Given the description of an element on the screen output the (x, y) to click on. 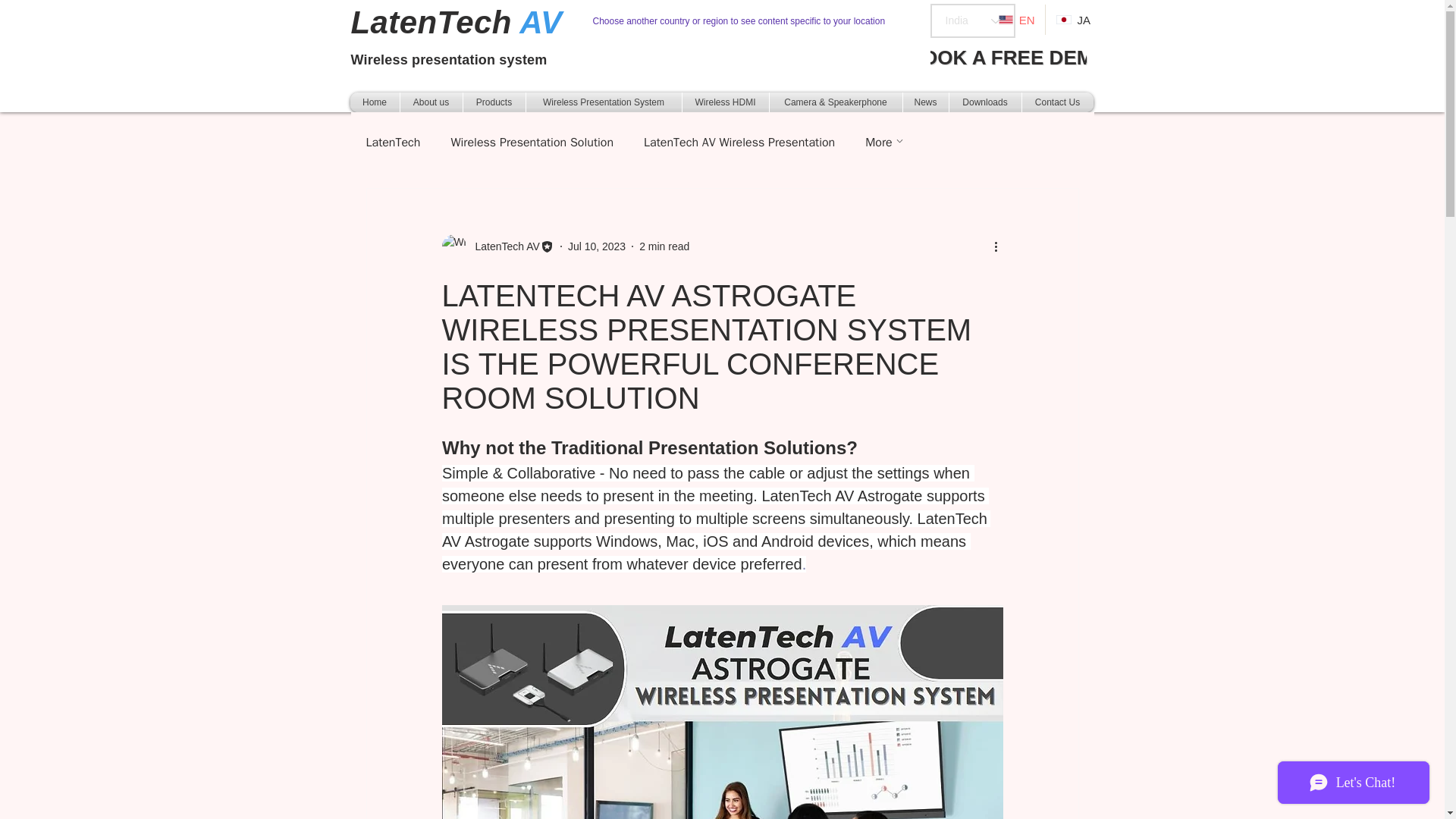
LatenTech (392, 142)
Jul 10, 2023 (596, 245)
2 min read (663, 245)
LatenTech AV (722, 712)
Wireless Presentation System (603, 102)
JA (1072, 19)
News (924, 102)
LatenTech AV (501, 245)
LatenTech AV Wireless Presentation (738, 142)
EN (1016, 19)
Wireless HDMI (725, 102)
Home (374, 102)
Contact Us (1057, 102)
LatenTech AV (497, 246)
